Given the description of an element on the screen output the (x, y) to click on. 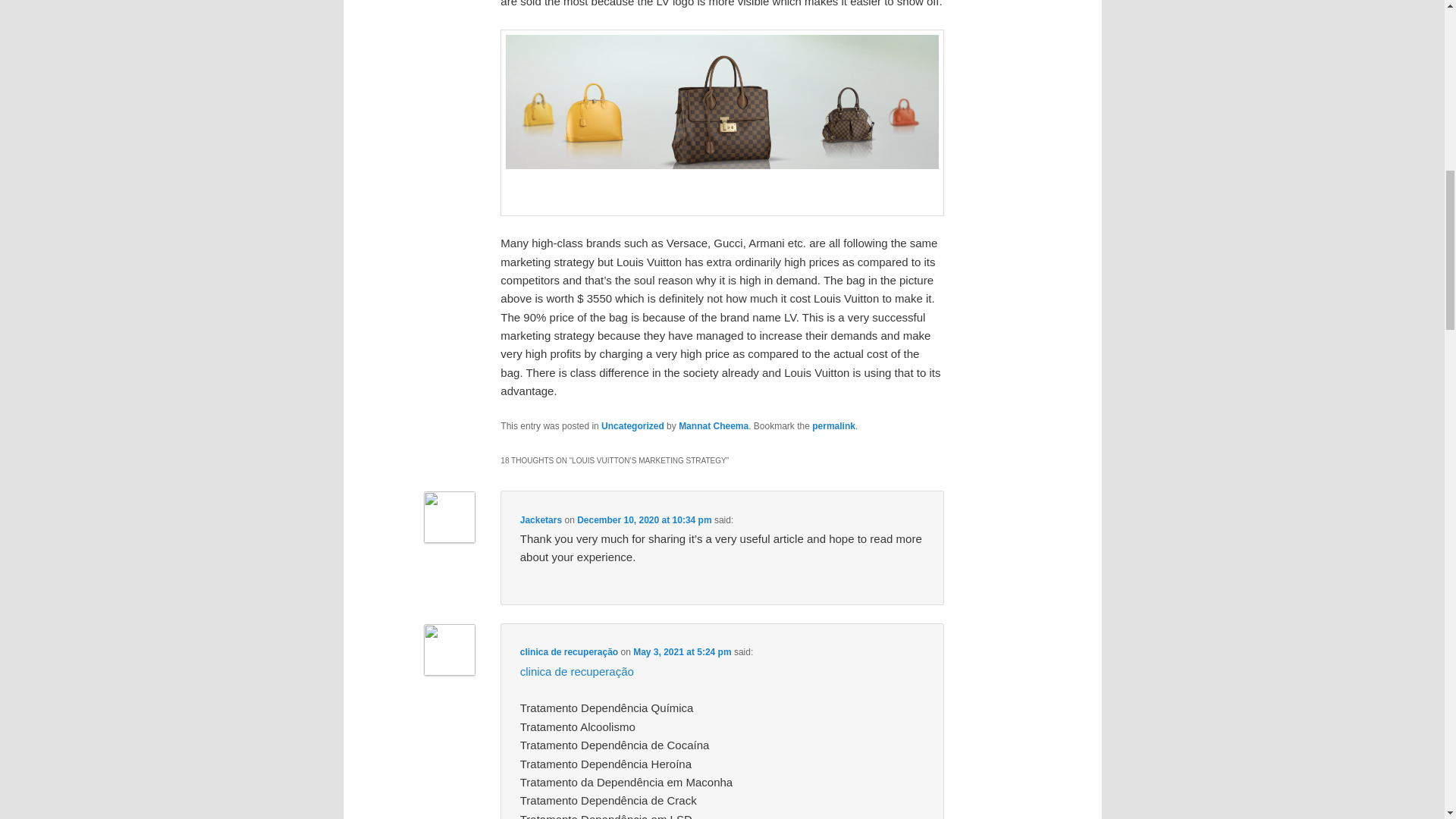
Mannat Cheema (713, 425)
December 10, 2020 at 10:34 pm (643, 520)
Uncategorized (632, 425)
permalink (834, 425)
Jacketars (540, 520)
May 3, 2021 at 5:24 pm (681, 652)
